Given the description of an element on the screen output the (x, y) to click on. 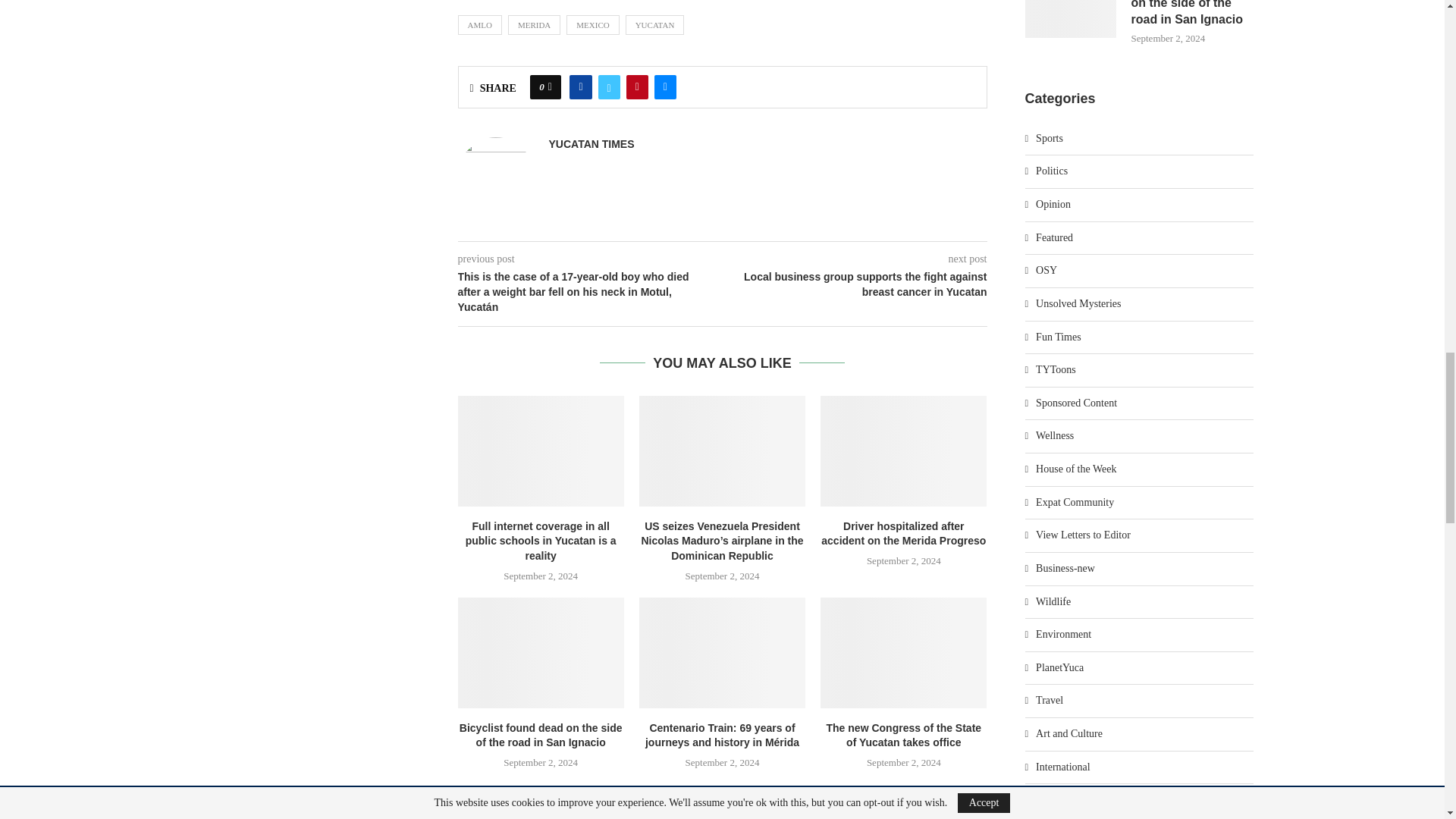
Bicyclist found dead on the side of the road in San Ignacio (541, 652)
Author Yucatan Times (591, 144)
Driver hospitalized after accident on the Merida Progreso (904, 450)
